Given the description of an element on the screen output the (x, y) to click on. 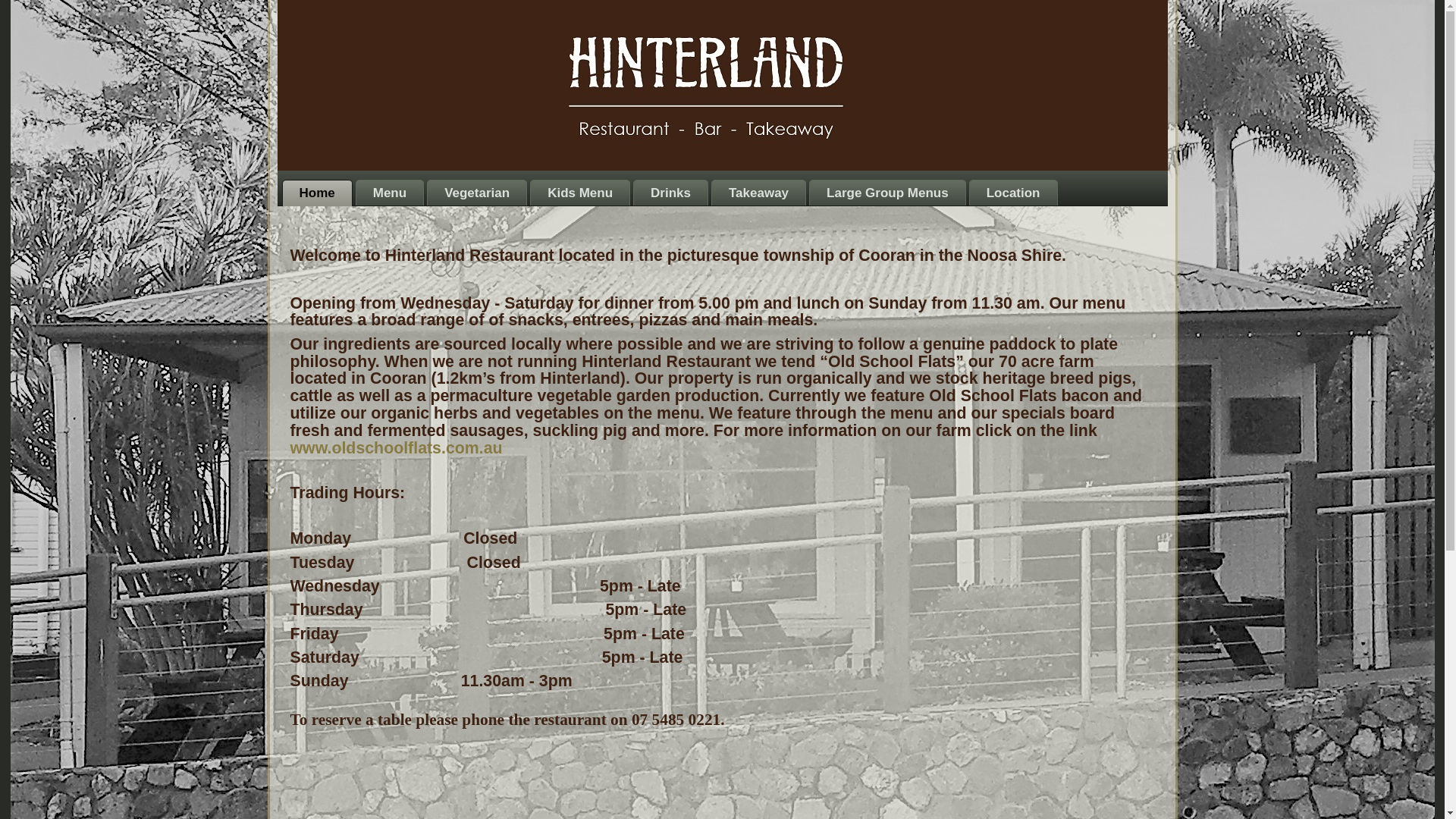
Menu Element type: text (389, 192)
Large Group Menus Element type: text (887, 192)
Drinks Element type: text (670, 192)
Takeaway Element type: text (758, 192)
www.oldschoolflats.com.au Element type: text (395, 448)
Home Element type: text (317, 192)
Vegetarian Element type: text (476, 192)
Kids Menu Element type: text (580, 192)
Location Element type: text (1013, 192)
